Given the description of an element on the screen output the (x, y) to click on. 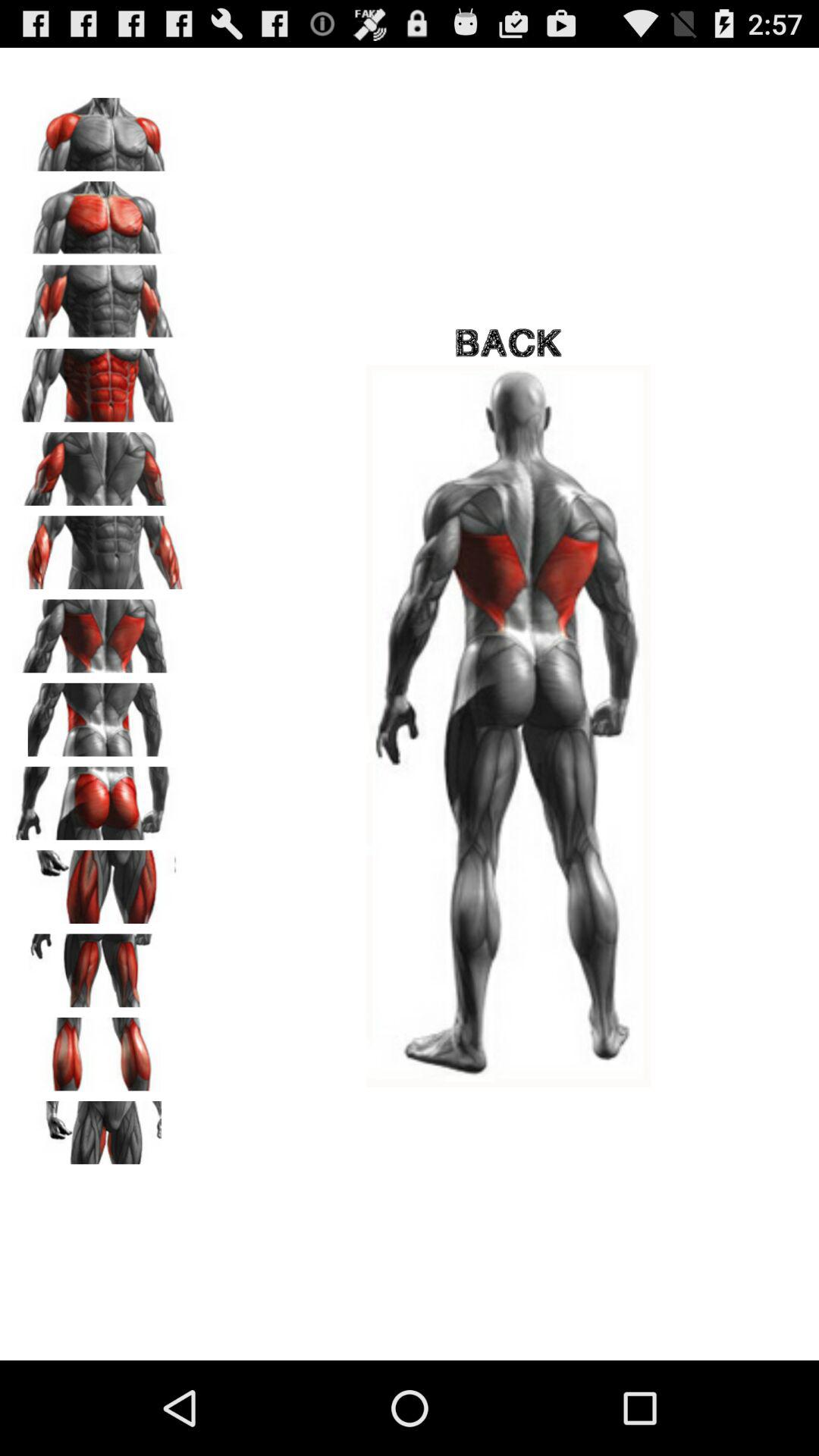
click on image (99, 463)
